Given the description of an element on the screen output the (x, y) to click on. 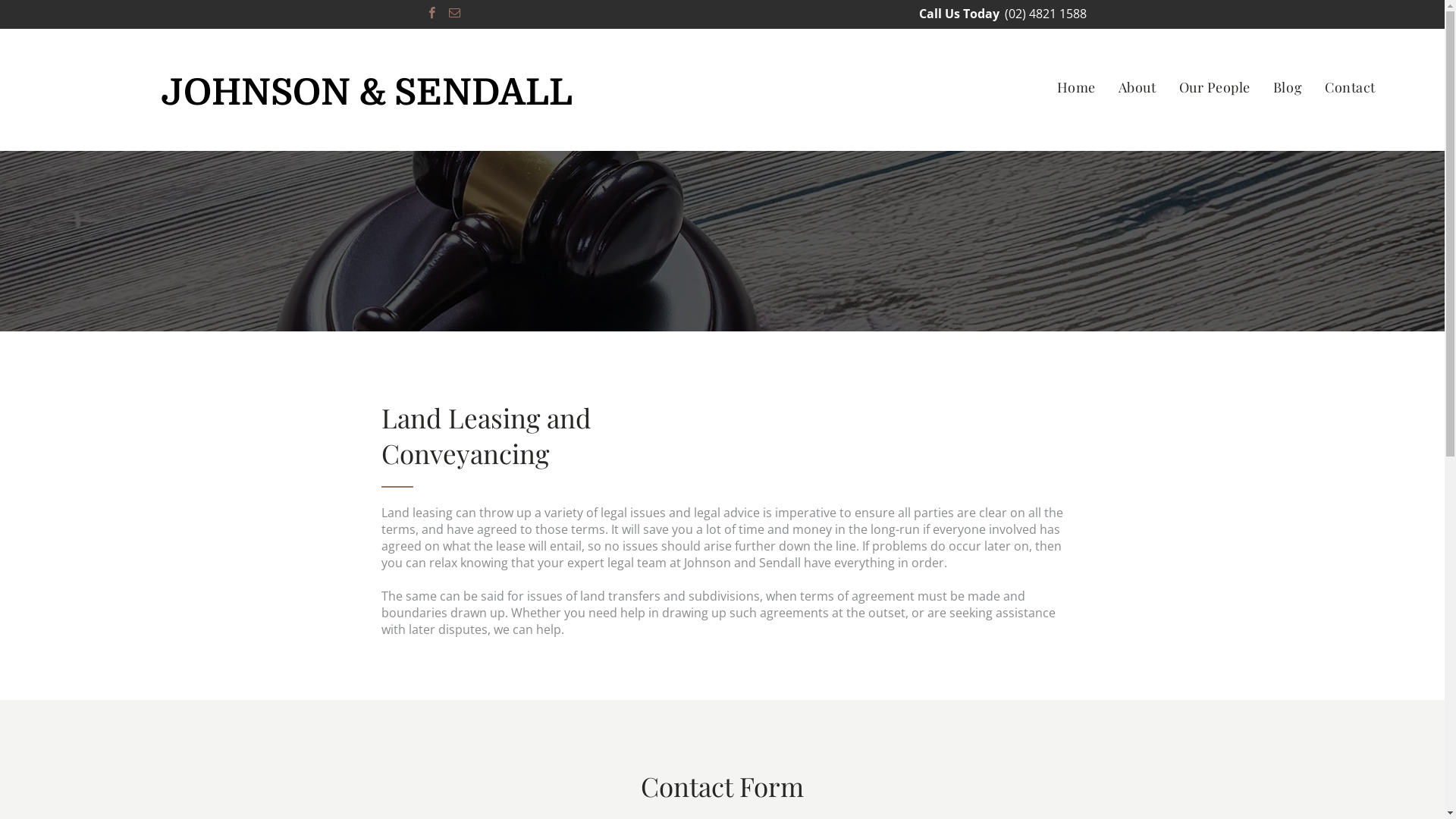
Contact Element type: text (1349, 86)
Home Element type: text (1076, 86)
Our People Element type: text (1214, 86)
Blog Element type: text (1287, 86)
About Element type: text (1137, 86)
